Given the description of an element on the screen output the (x, y) to click on. 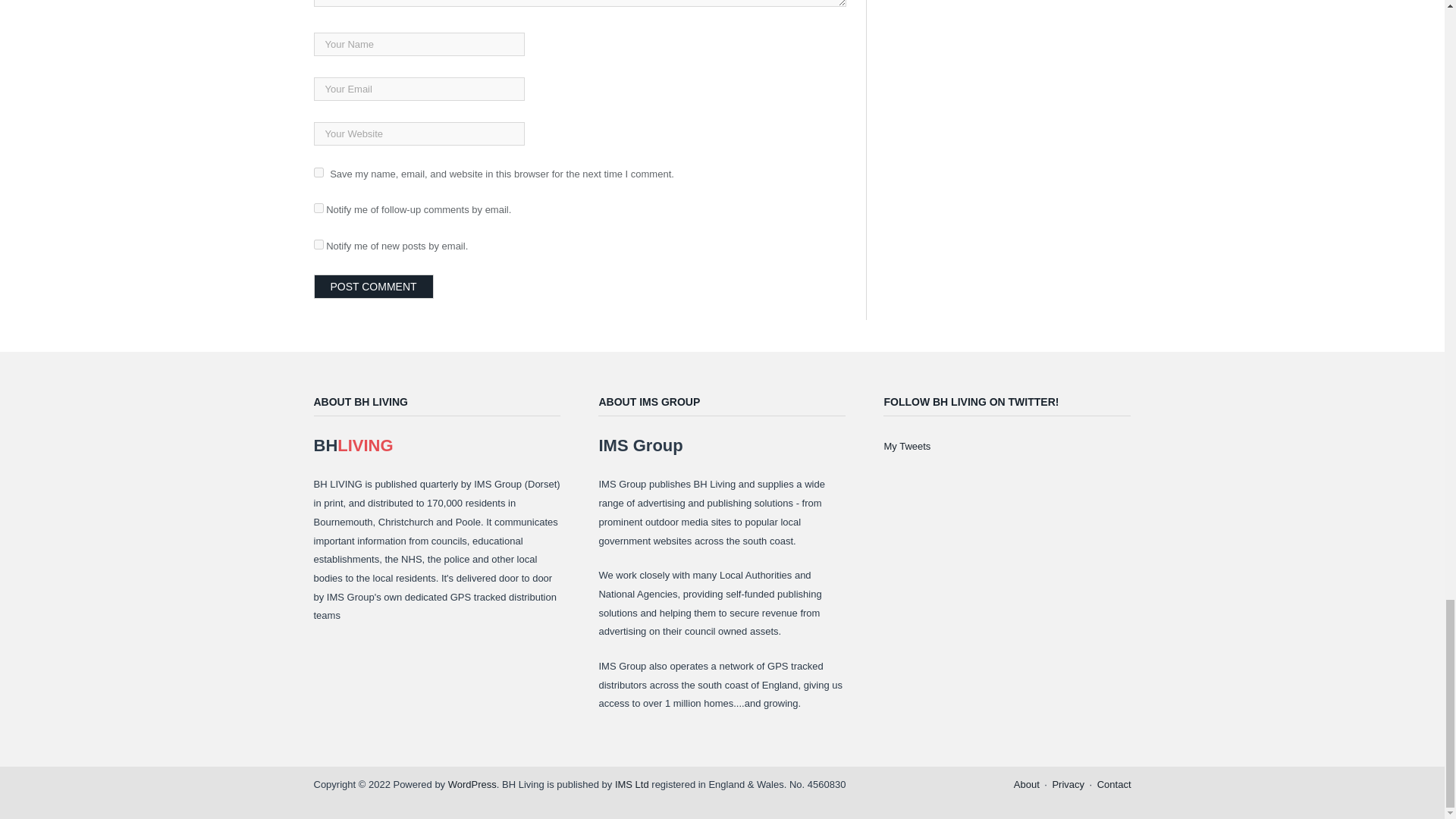
subscribe (318, 244)
subscribe (318, 207)
Post Comment (373, 286)
yes (318, 172)
